Given the description of an element on the screen output the (x, y) to click on. 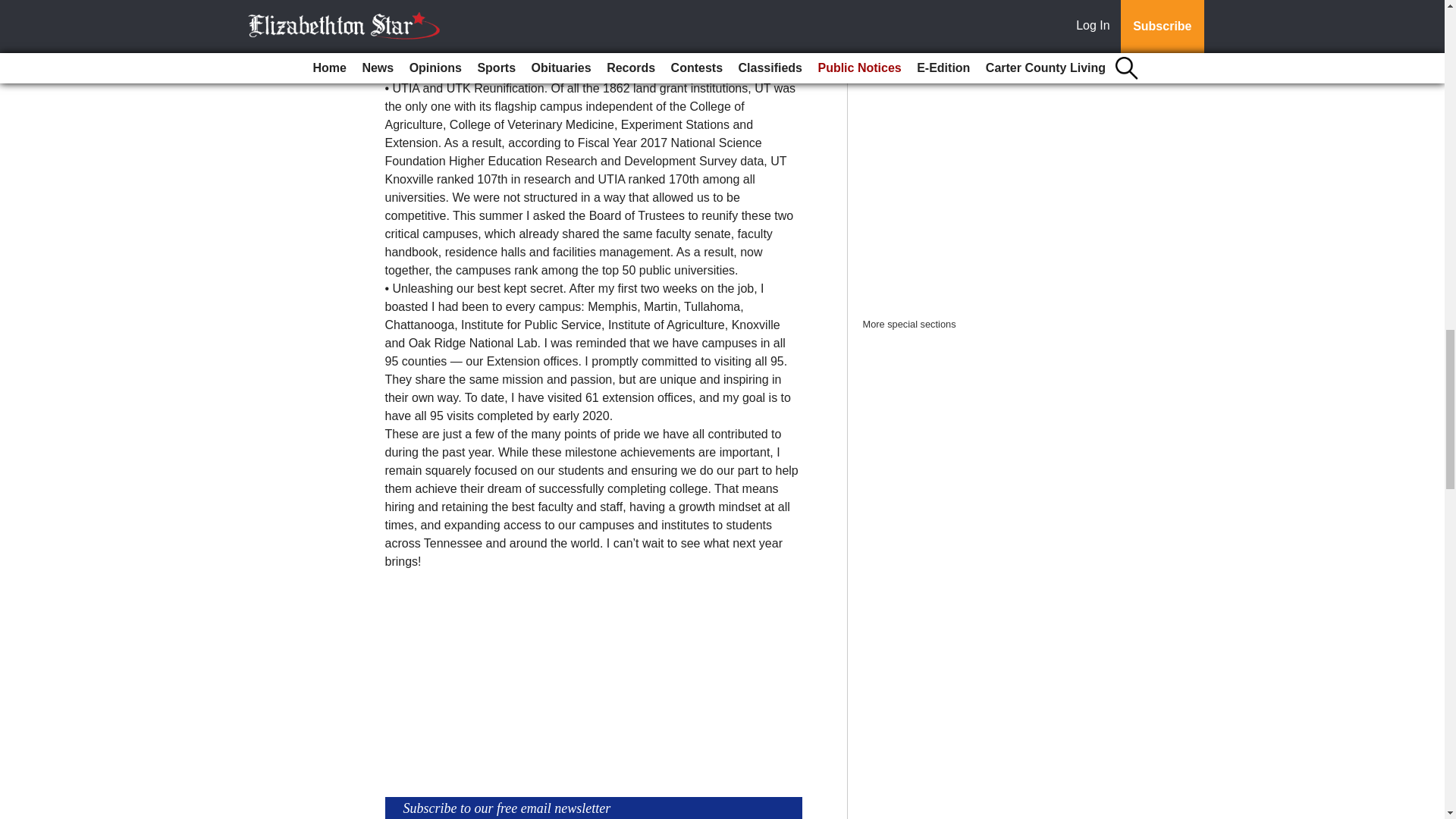
More special sections (909, 324)
